Given the description of an element on the screen output the (x, y) to click on. 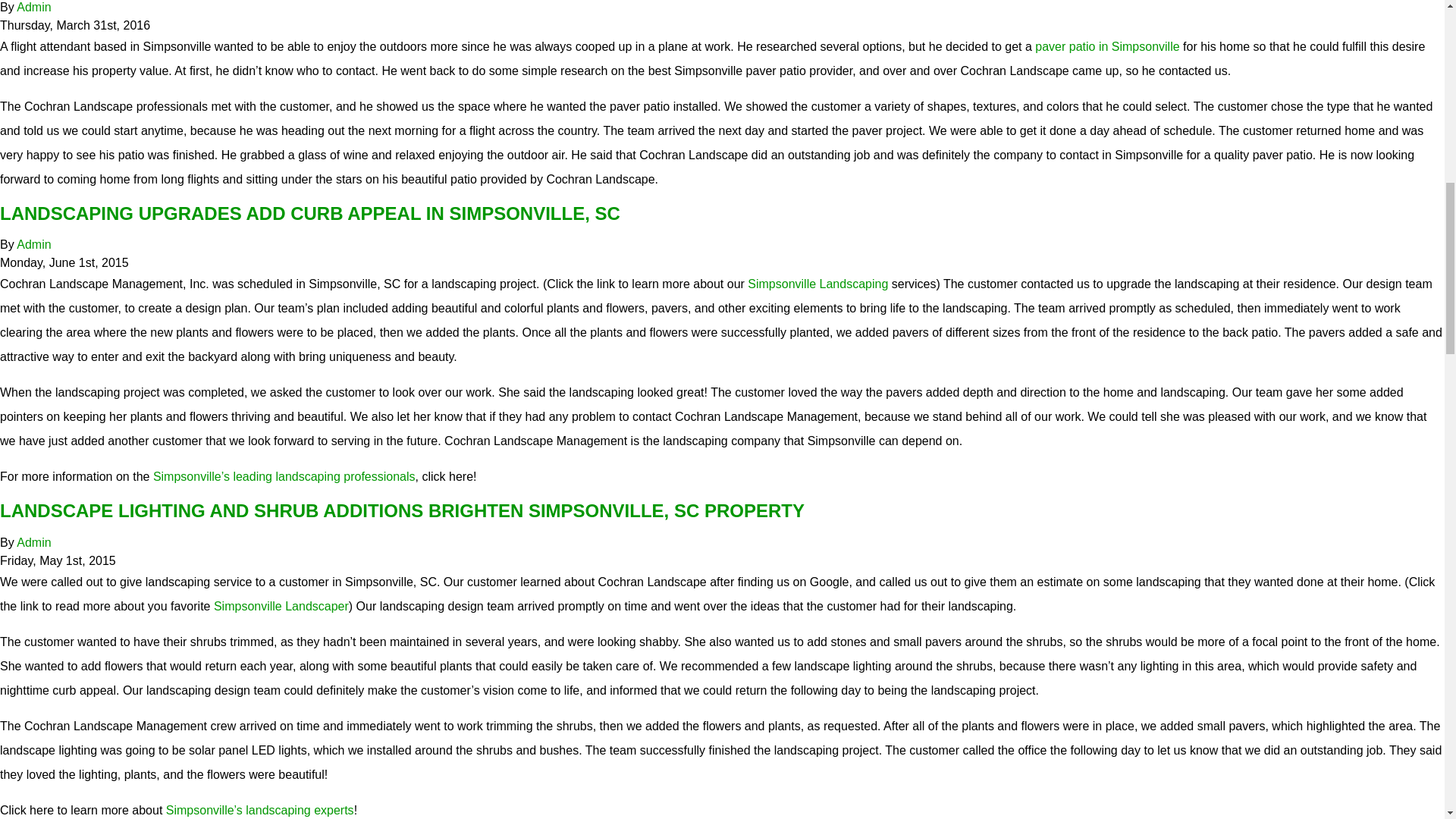
Admin (33, 244)
Admin (33, 6)
Admin (33, 244)
Admin (33, 6)
Simpsonville Landscaping (818, 283)
paver patio in Simpsonville (1107, 46)
LANDSCAPING UPGRADES ADD CURB APPEAL IN SIMPSONVILLE, SC (310, 213)
Admin (33, 542)
Simpsonville Landscaper (281, 605)
Admin (33, 542)
